Given the description of an element on the screen output the (x, y) to click on. 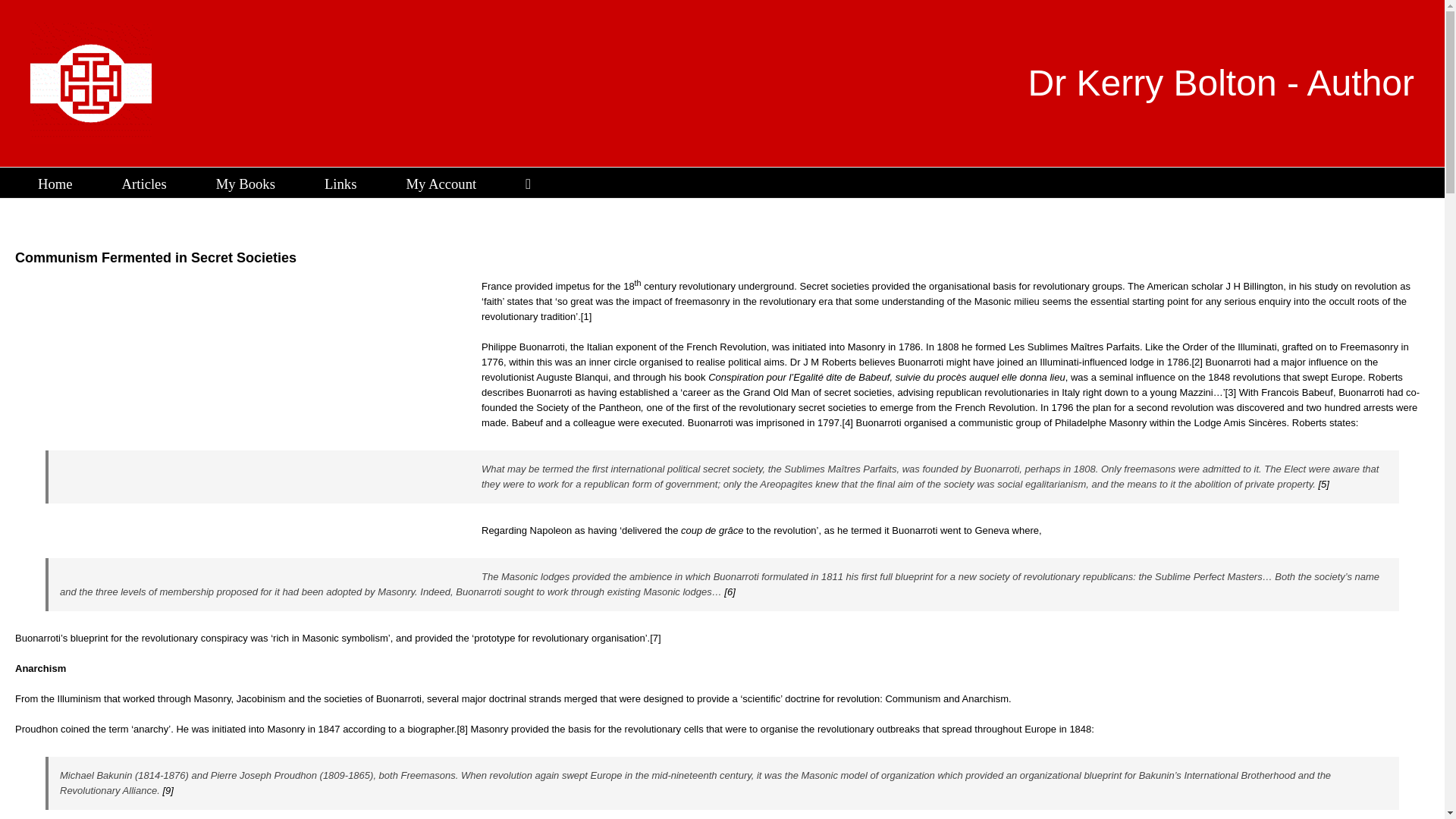
Links (340, 182)
Home (54, 182)
My Account (441, 182)
Log In (496, 348)
My Books (245, 182)
Articles (144, 182)
